Given the description of an element on the screen output the (x, y) to click on. 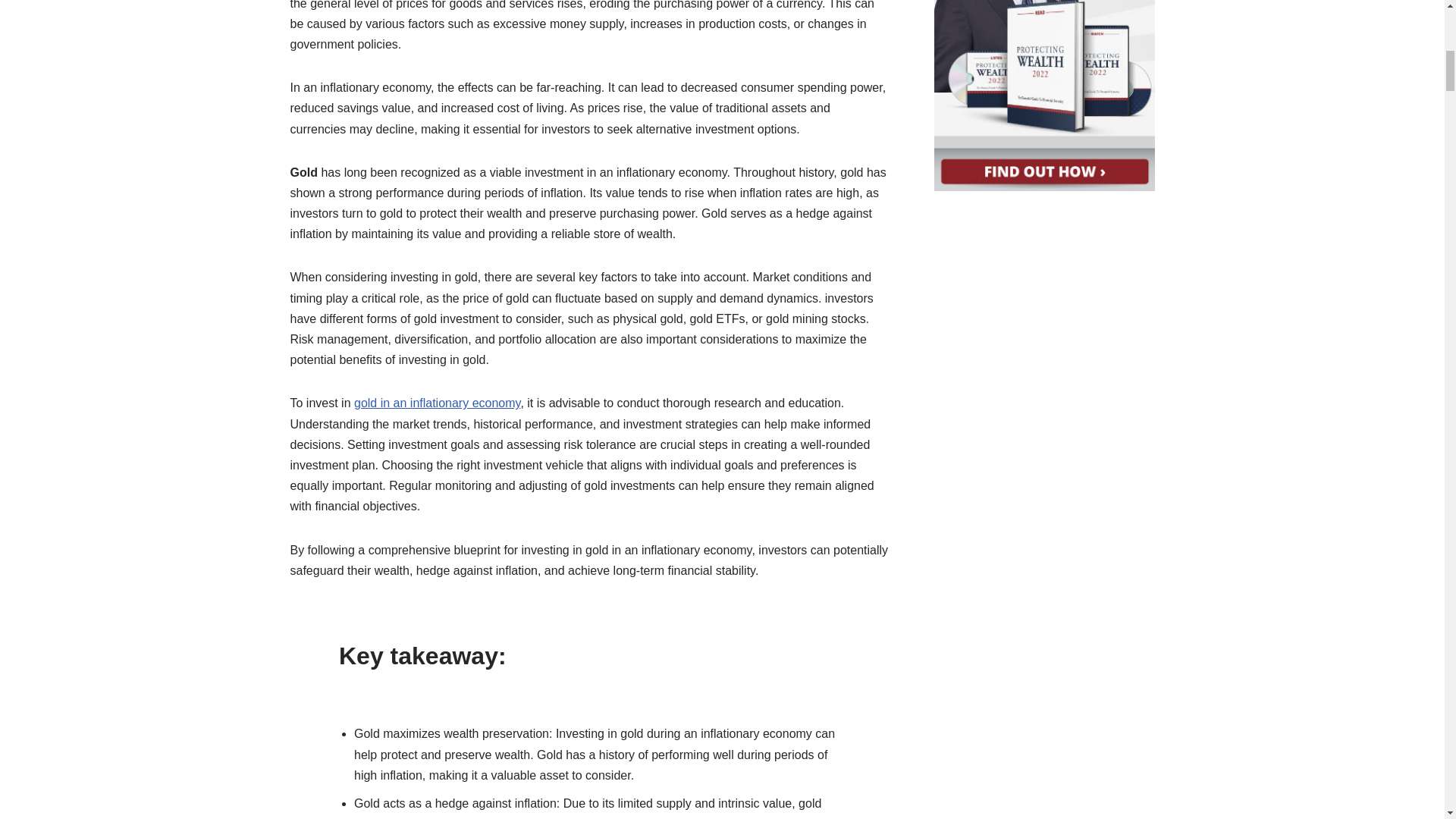
gold in an inflationary economy (436, 402)
